Given the description of an element on the screen output the (x, y) to click on. 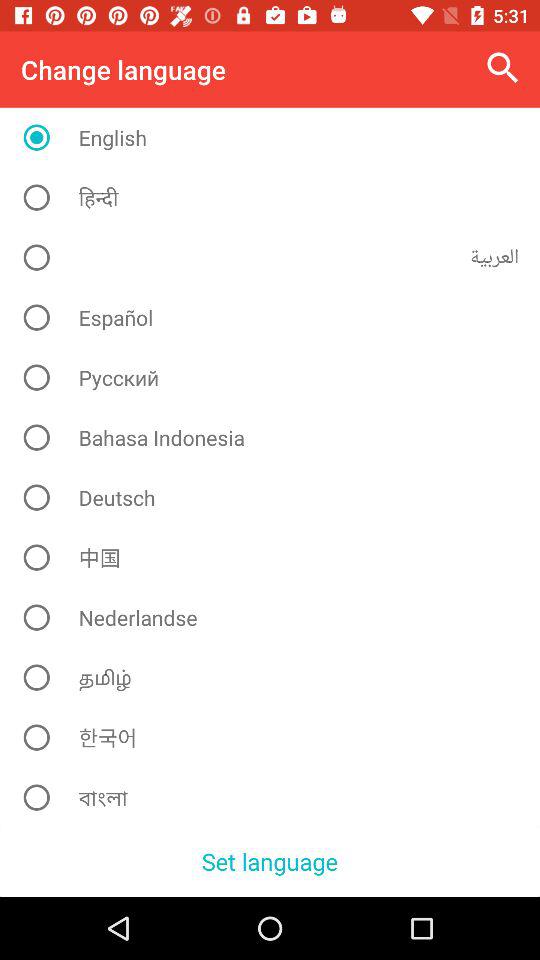
jump until deutsch (277, 497)
